Given the description of an element on the screen output the (x, y) to click on. 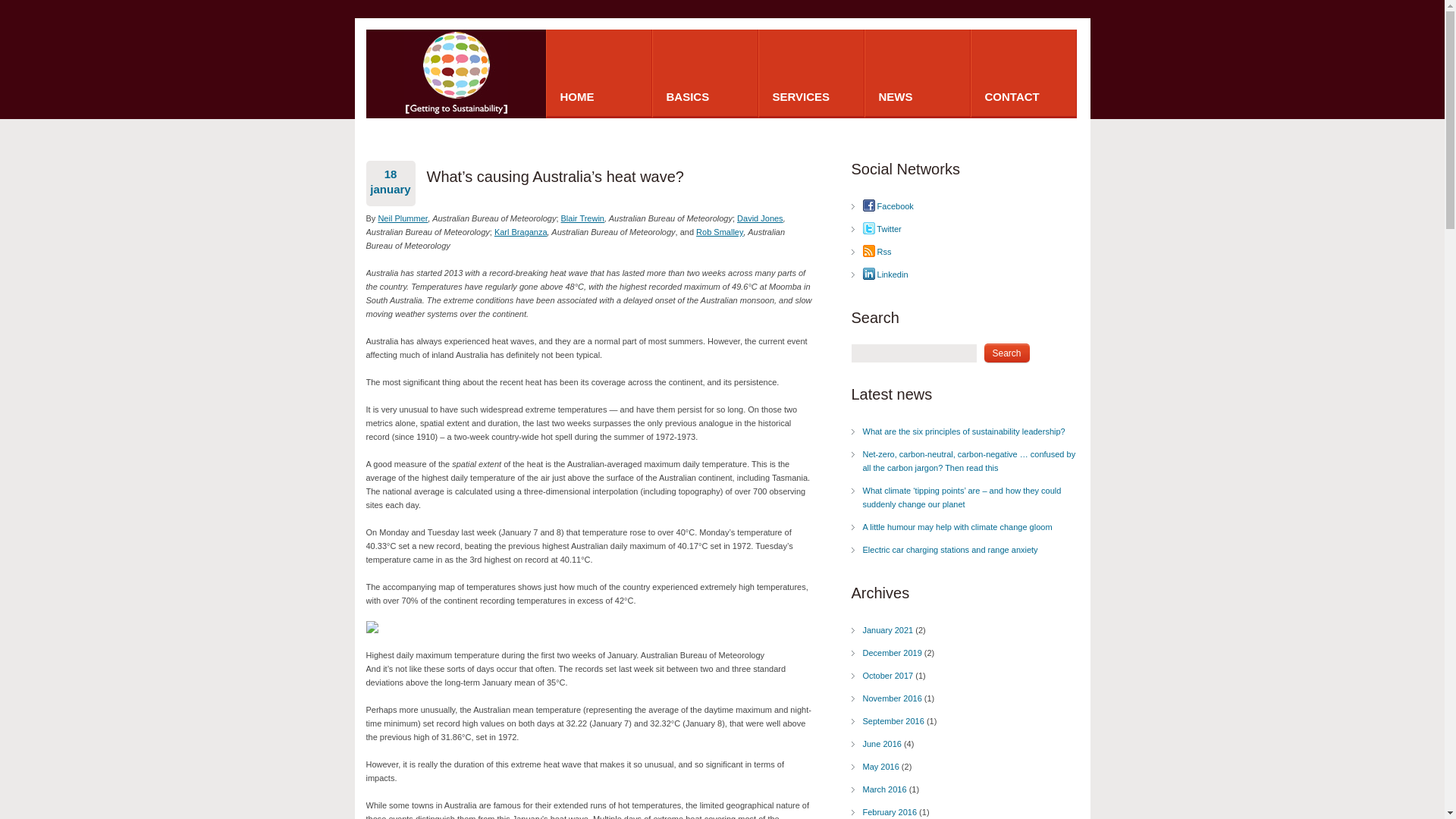
Electric car charging stations and range anxiety Element type: text (950, 549)
March 2016 Element type: text (884, 788)
NEWS Element type: text (917, 73)
December 2019 Element type: text (892, 652)
A little humour may help with climate change gloom Element type: text (957, 526)
SERVICES Element type: text (811, 73)
Neil Plummer Element type: text (402, 217)
Blair Trewin Element type: text (582, 217)
HOME Element type: text (599, 73)
Linkedin Element type: text (885, 274)
Twitter Element type: text (881, 228)
David Jones Element type: text (760, 217)
What are the six principles of sustainability leadership? Element type: text (963, 431)
Rob Smalley Element type: text (719, 231)
CONTACT Element type: text (1023, 73)
February 2016 Element type: text (889, 811)
January 2021 Element type: text (887, 629)
May 2016 Element type: text (880, 766)
June 2016 Element type: text (881, 743)
November 2016 Element type: text (892, 697)
October 2017 Element type: text (887, 675)
September 2016 Element type: text (893, 720)
BASICS Element type: text (705, 73)
Rss Element type: text (876, 251)
Search Element type: text (1006, 352)
Karl Braganza Element type: text (520, 231)
Facebook Element type: text (887, 205)
